Given the description of an element on the screen output the (x, y) to click on. 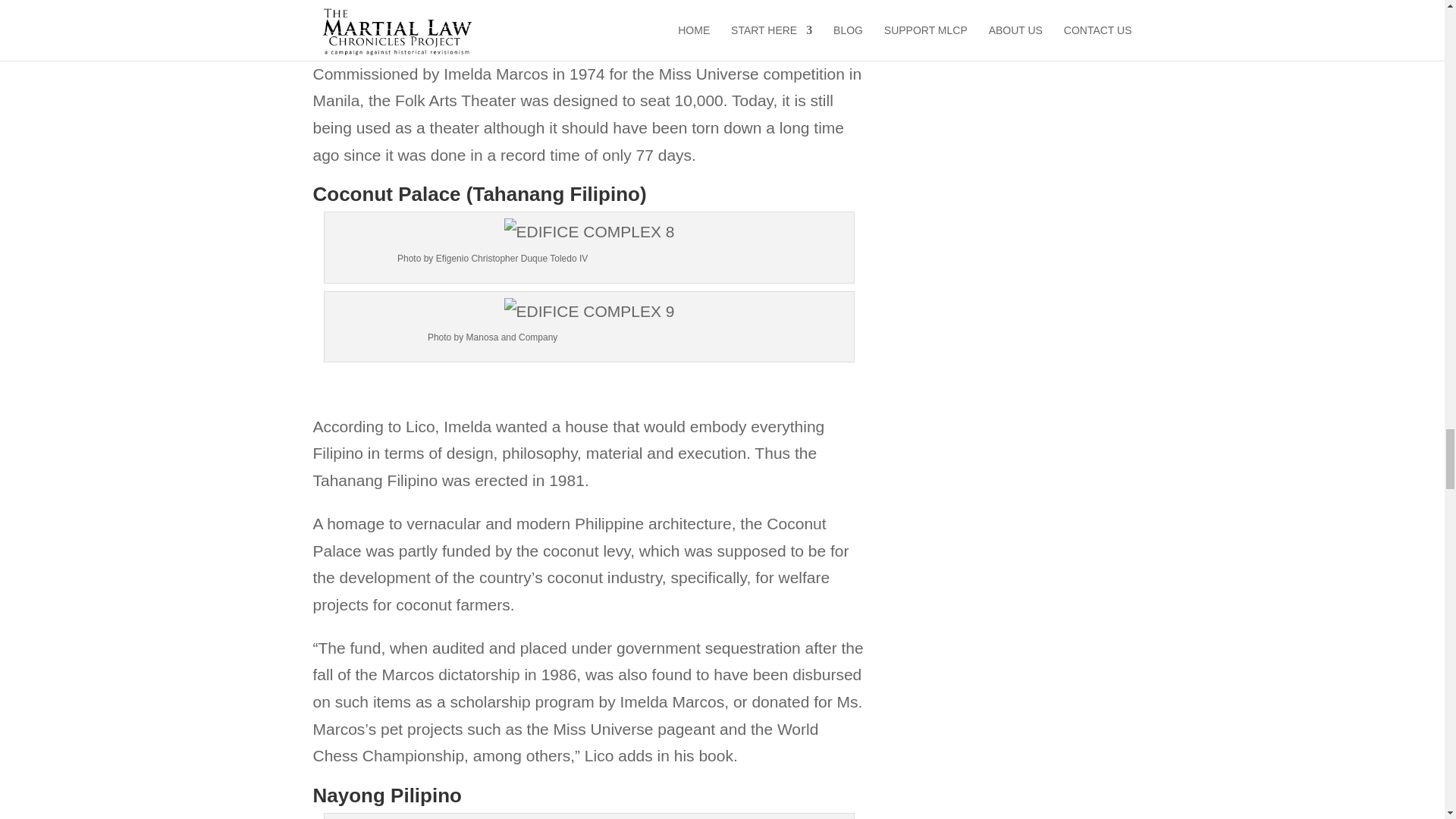
EDIFICE COMPLEX 8 (589, 231)
EDIFICE COMPLEX 9 (589, 311)
